Given the description of an element on the screen output the (x, y) to click on. 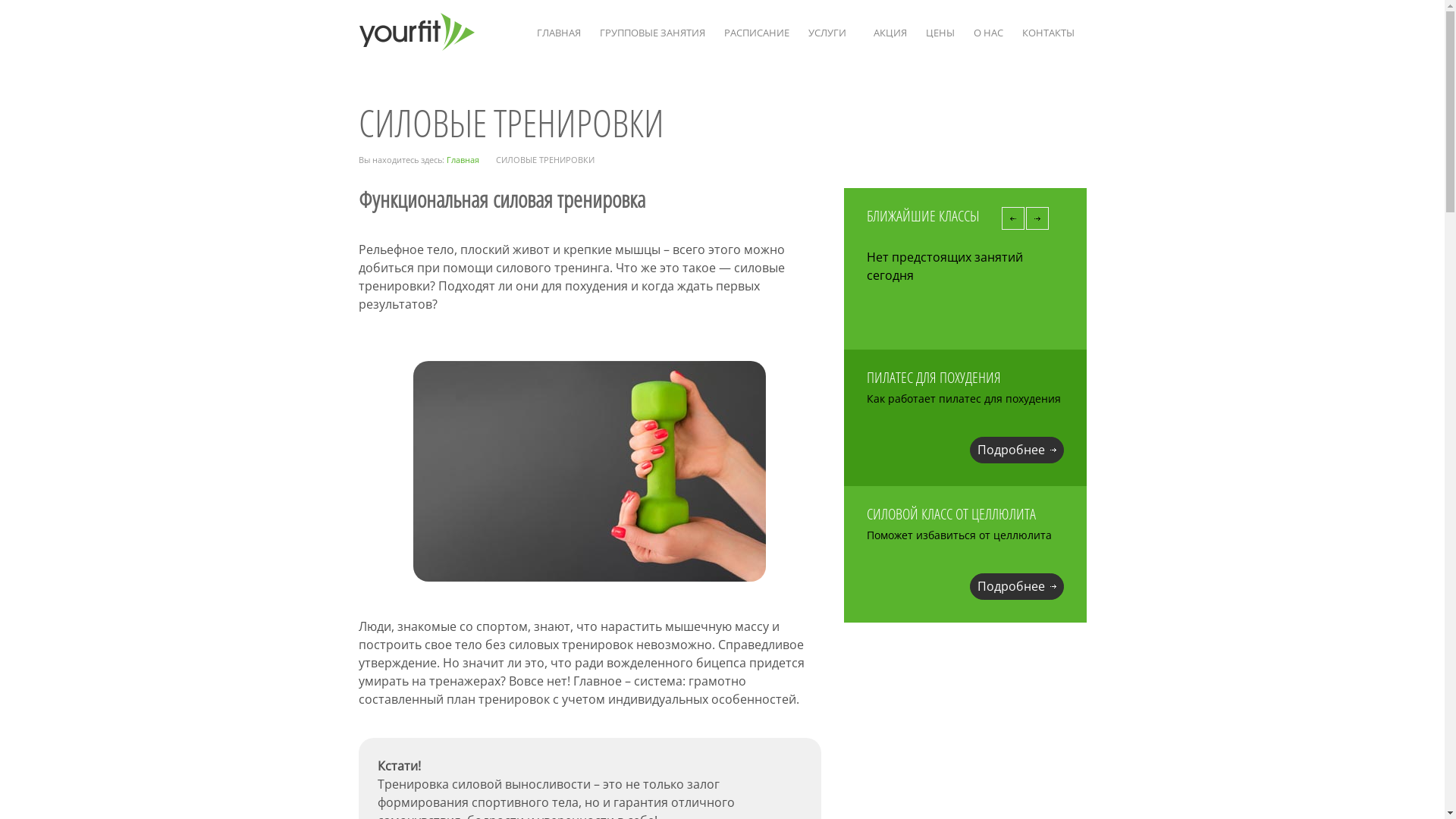
ganteli-dlya-fitnesa Element type: hover (589, 470)
